Given the description of an element on the screen output the (x, y) to click on. 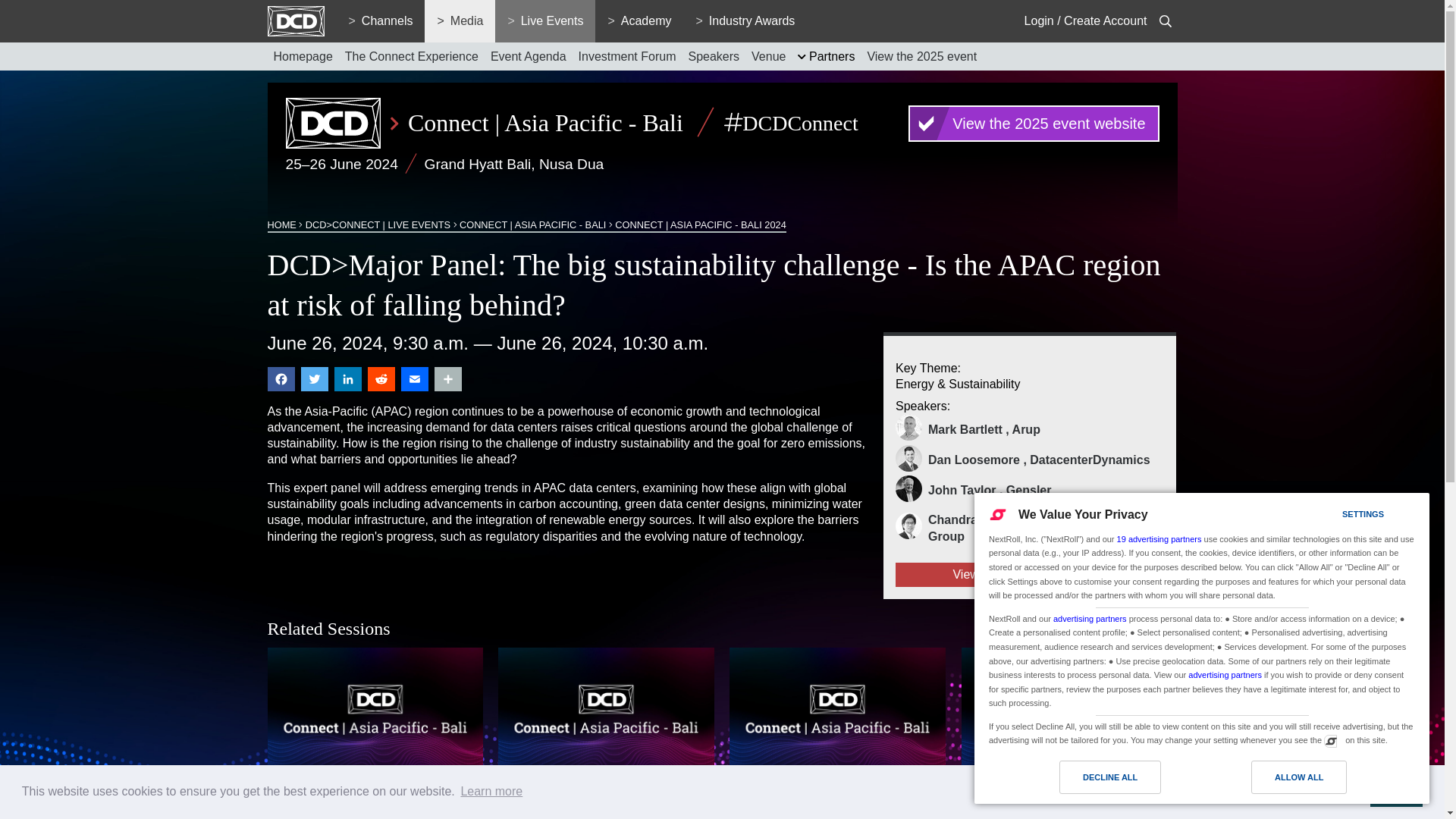
Industry Awards (744, 21)
Learn more (491, 791)
Channels (380, 21)
Academy (638, 21)
Live Events (545, 21)
Media (460, 21)
Got it! (1396, 791)
